Given the description of an element on the screen output the (x, y) to click on. 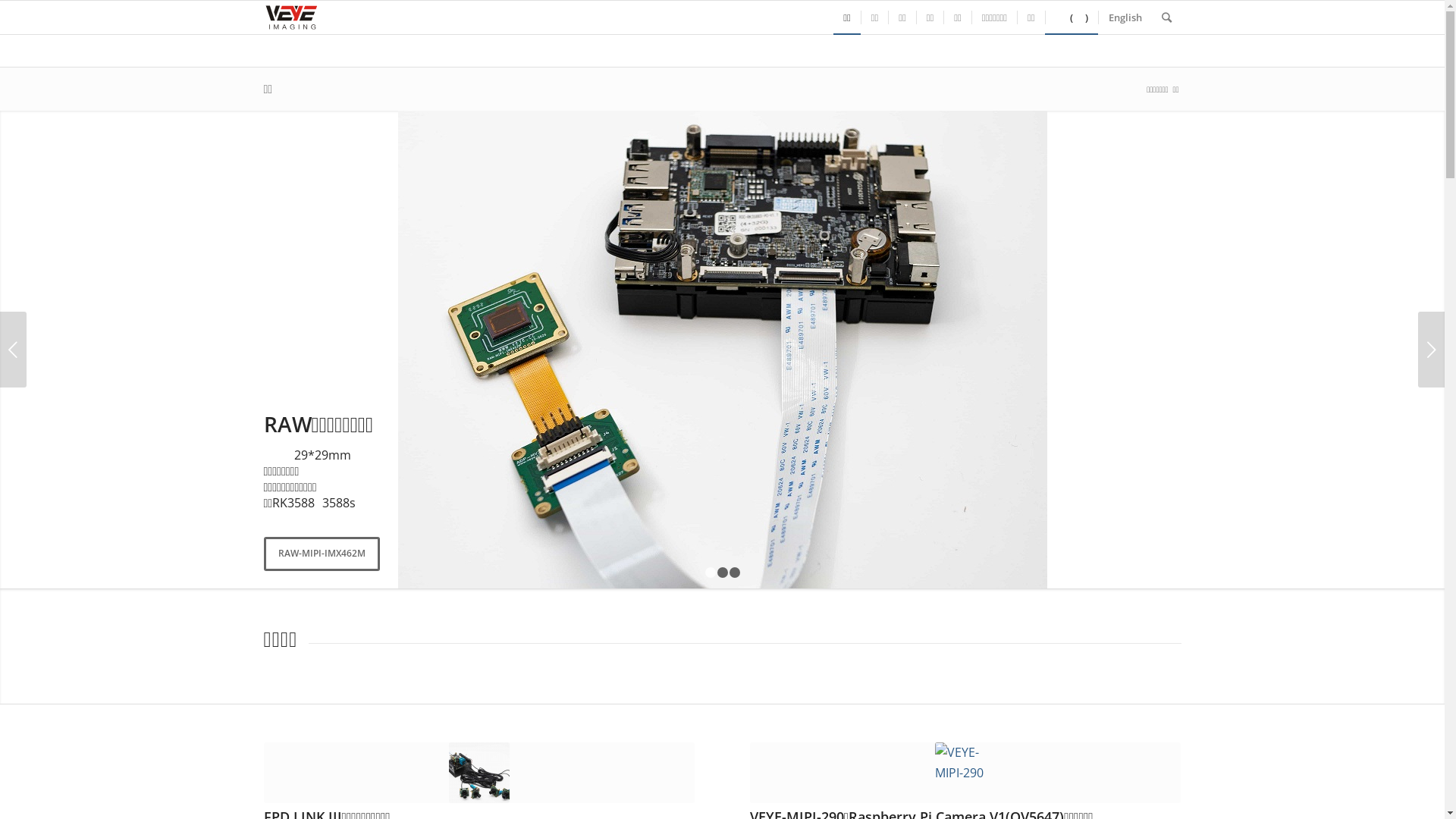
2 Element type: text (722, 572)
RAW-MIPI-IMX462M Element type: text (321, 553)
RAW-MIPI-IMX462-ADP-MV2-FIREFLY 01 Element type: hover (721, 349)
1 Element type: text (710, 572)
English Element type: text (1124, 17)
3 Element type: text (734, 572)
